Given the description of an element on the screen output the (x, y) to click on. 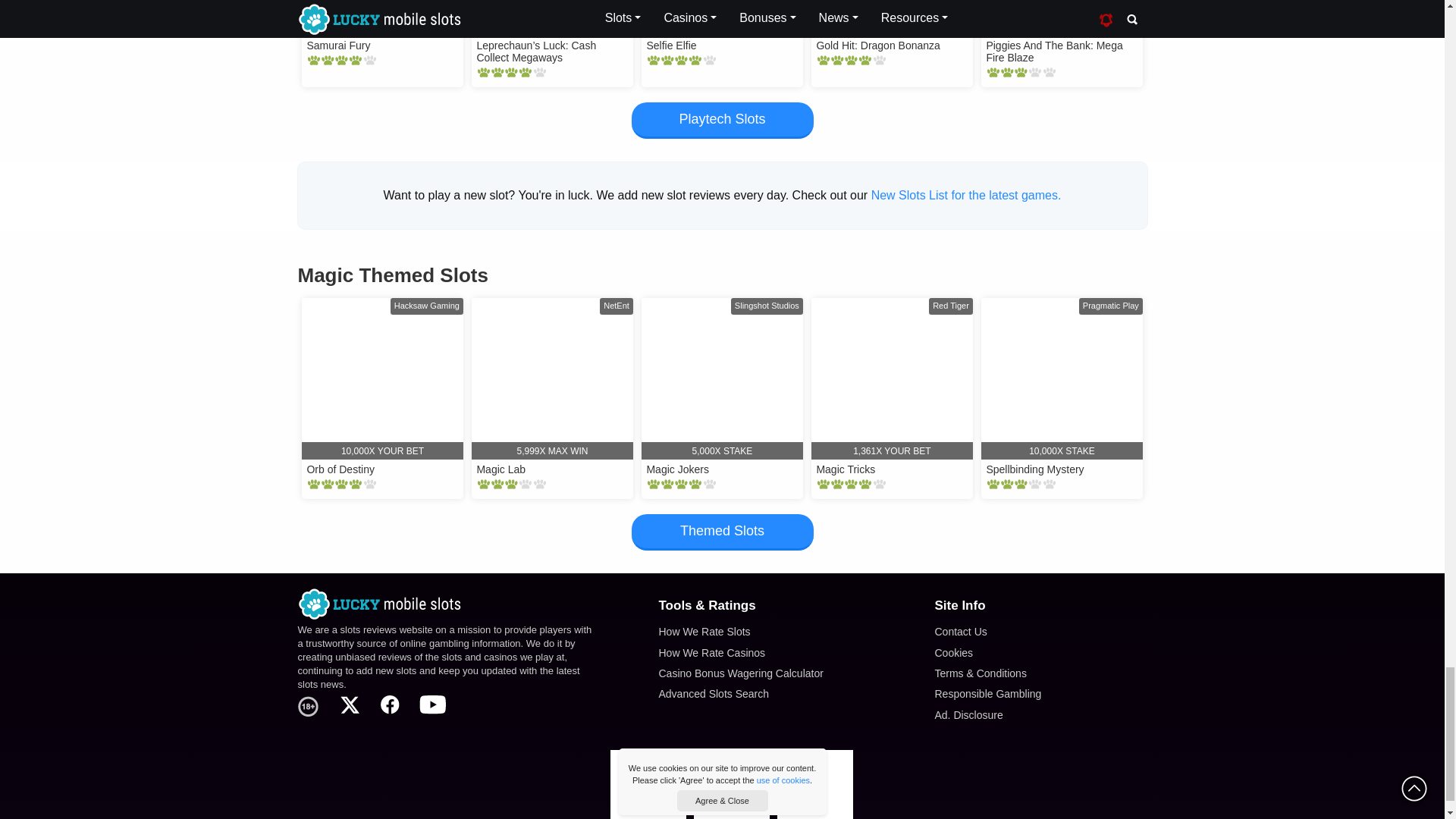
Home of Lucky Mobile Slots (445, 603)
